Given the description of an element on the screen output the (x, y) to click on. 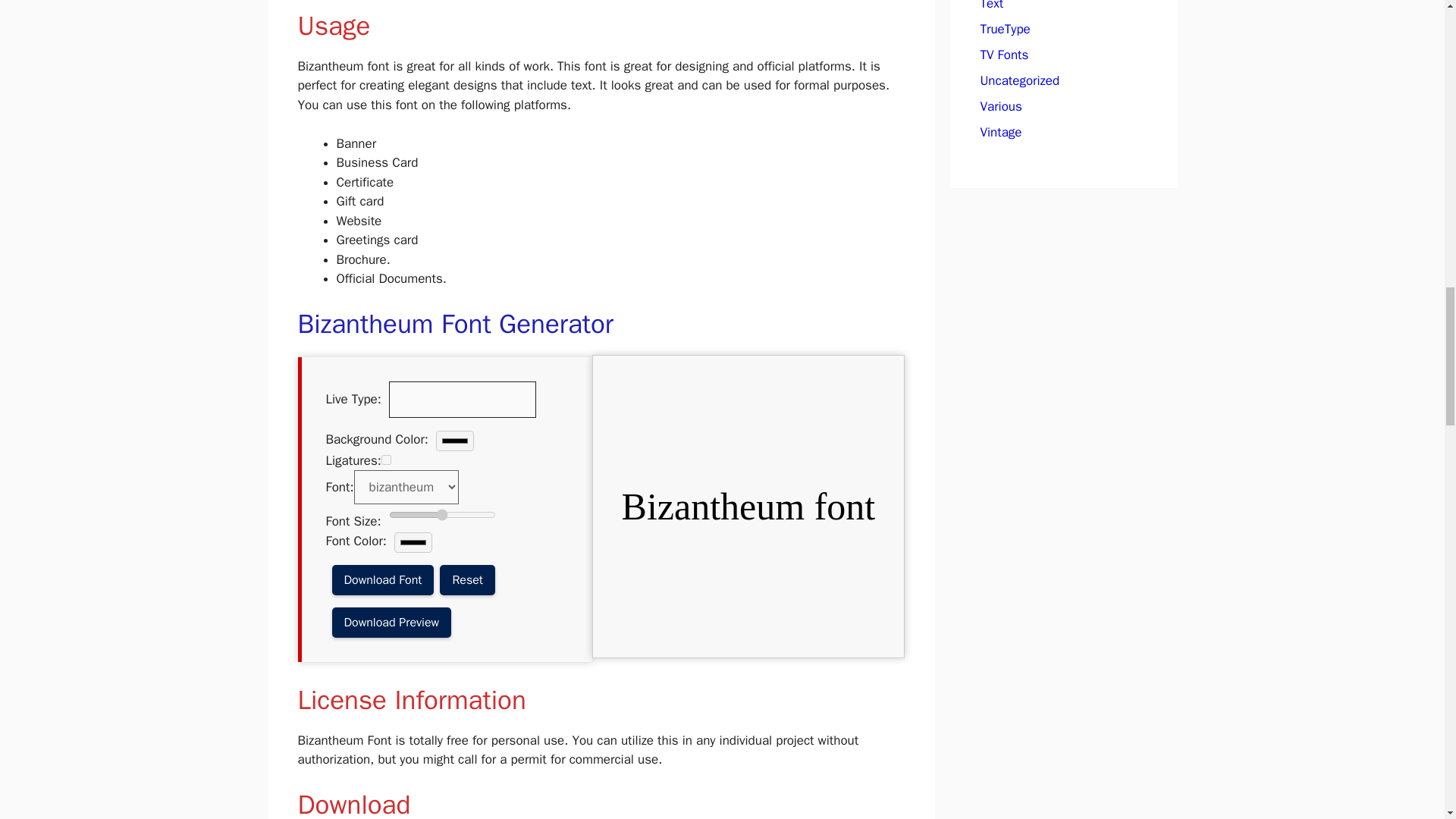
on (386, 460)
56 (441, 514)
